Given the description of an element on the screen output the (x, y) to click on. 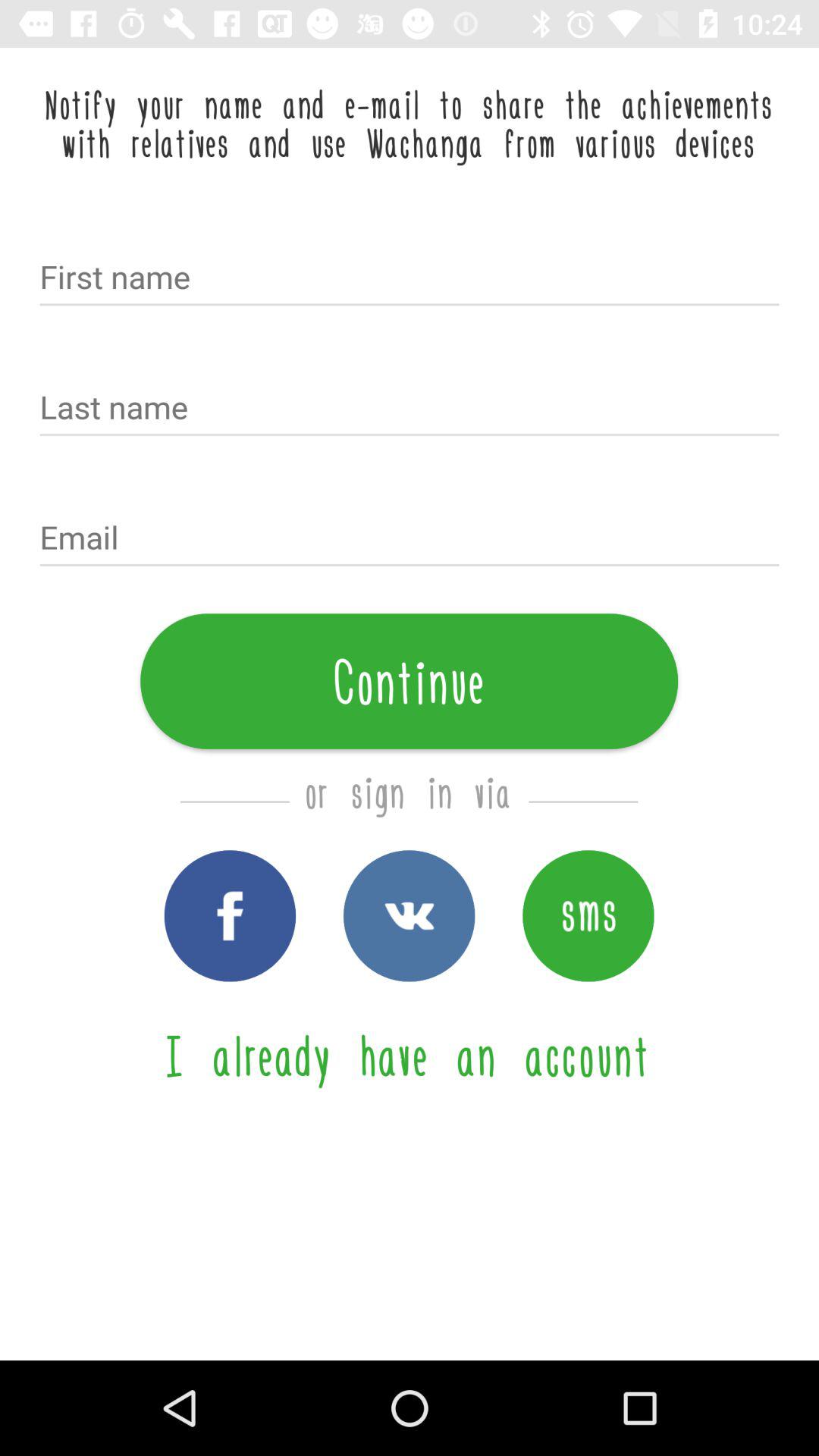
text box (409, 408)
